Given the description of an element on the screen output the (x, y) to click on. 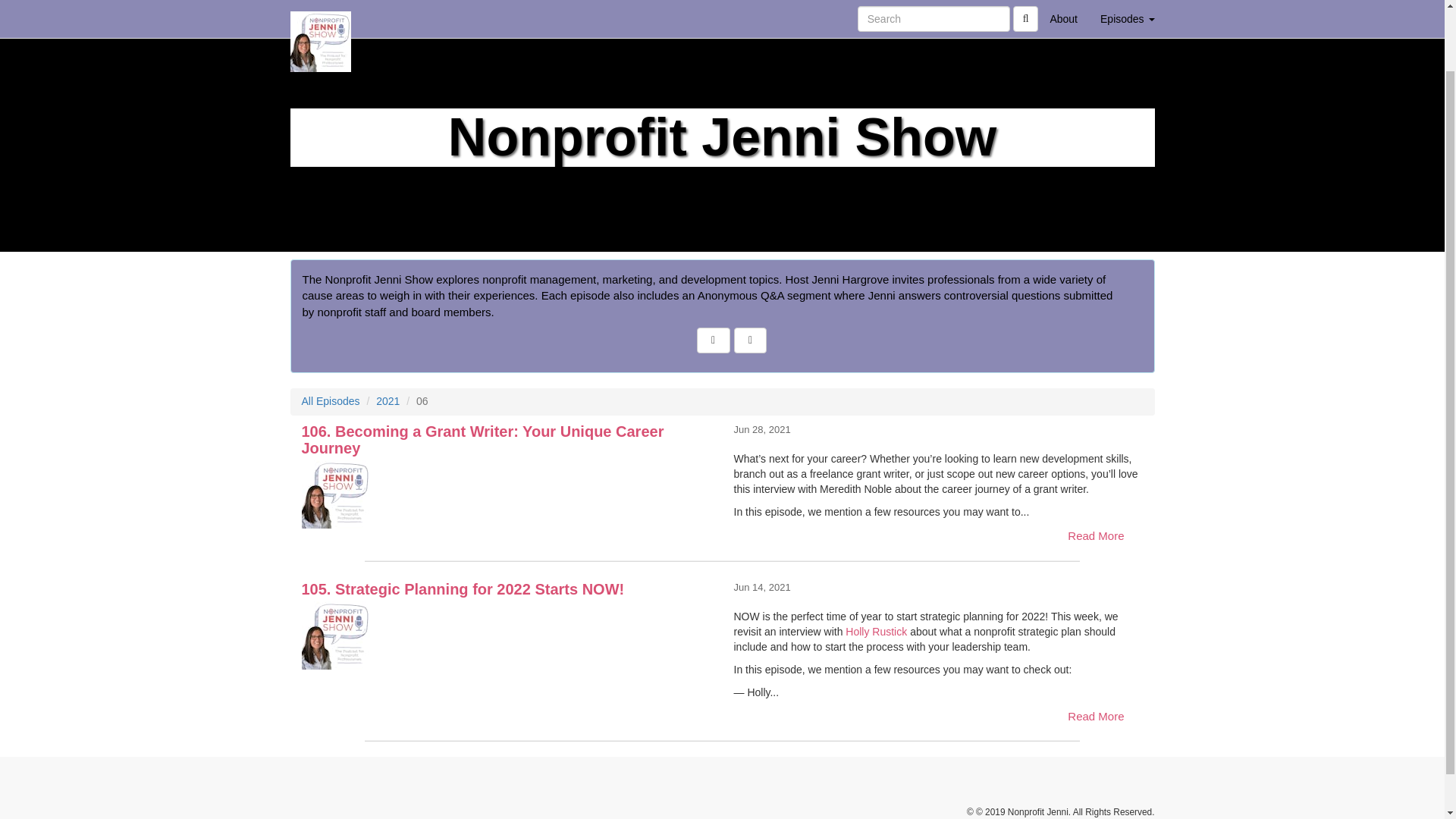
106. Becoming a Grant Writer: Your Unique Career Journey (506, 494)
105. Strategic Planning for 2022 Starts NOW! (506, 635)
